Given the description of an element on the screen output the (x, y) to click on. 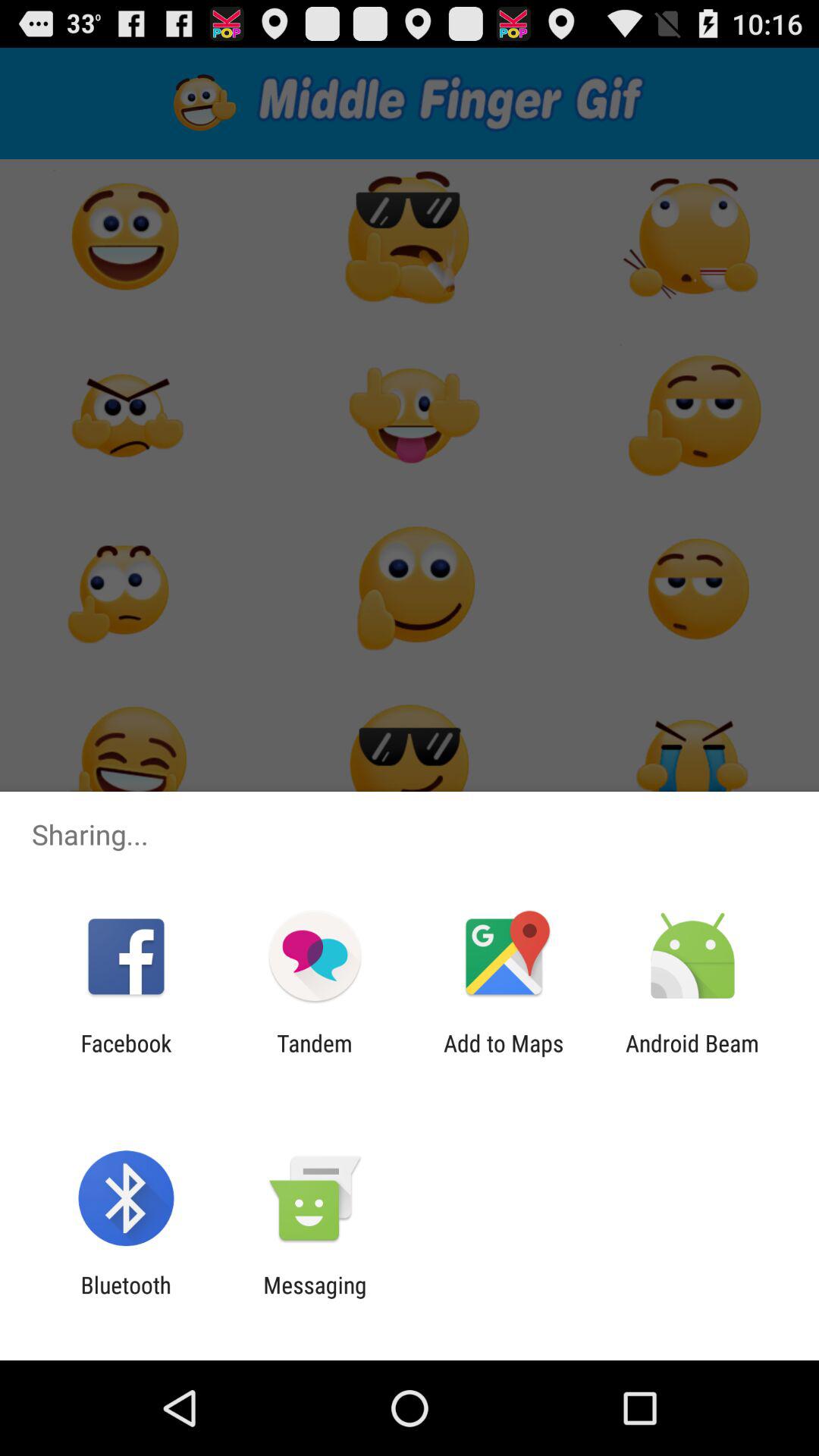
choose the item to the left of the add to maps icon (314, 1056)
